Given the description of an element on the screen output the (x, y) to click on. 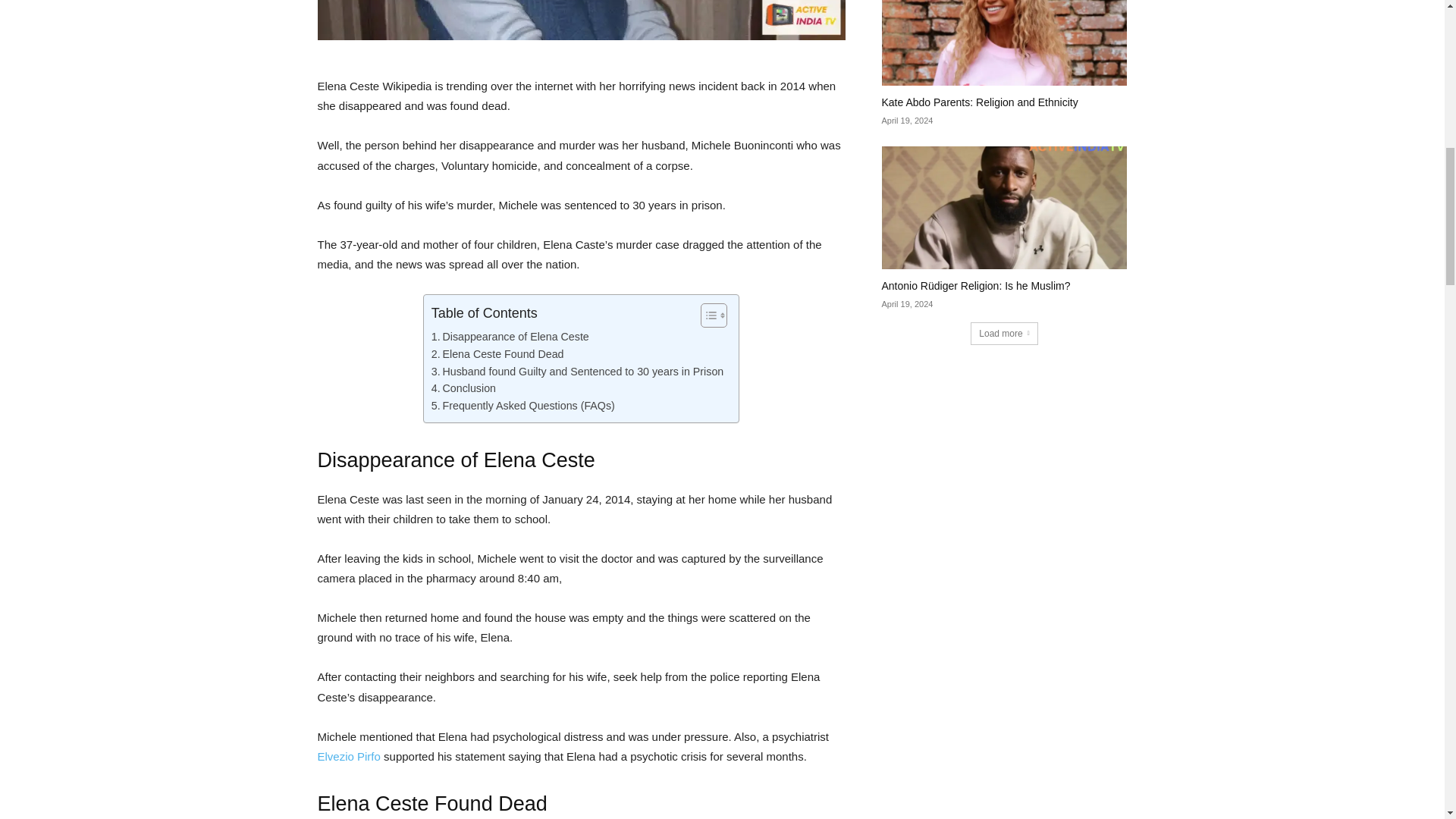
Elena Ceste Found Dead (497, 354)
Husband found Guilty and Sentenced to 30 years in Prison (576, 371)
Elena Ceste Found Dead (497, 354)
Disappearance of Elena Ceste (509, 336)
Elvezio Pirfo (348, 756)
Disappearance of Elena Ceste (509, 336)
Husband found Guilty and Sentenced to 30 years in Prison (576, 371)
Conclusion (463, 388)
Elena Ceste Wikipedia (580, 20)
Conclusion (463, 388)
